Given the description of an element on the screen output the (x, y) to click on. 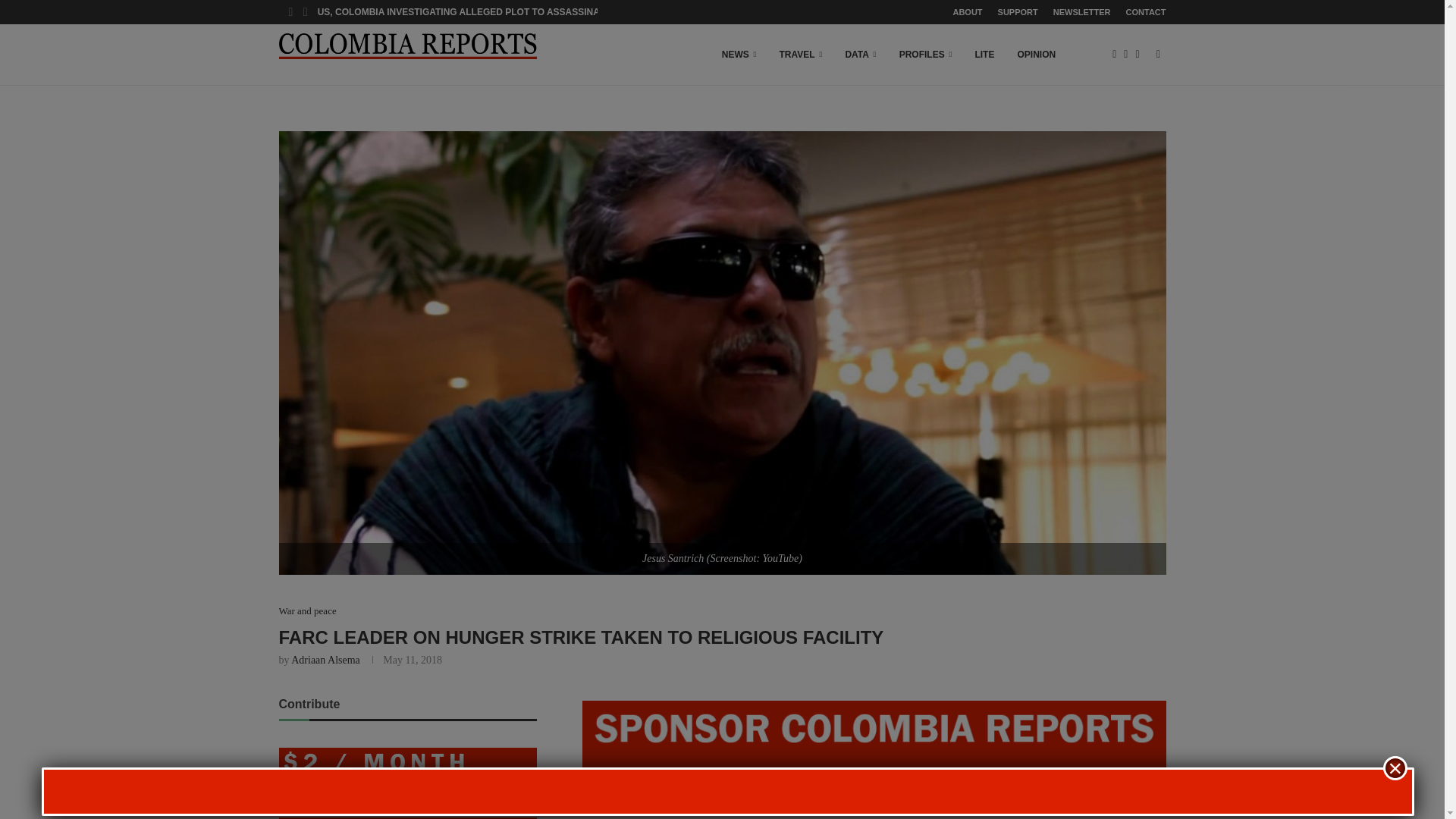
CONTACT (1145, 12)
SUPPORT (1017, 12)
ABOUT (966, 12)
US, COLOMBIA INVESTIGATING ALLEGED PLOT TO ASSASSINATE PETRO (481, 12)
NEWSLETTER (1081, 12)
TRAVEL (801, 54)
NEWS (739, 54)
